Given the description of an element on the screen output the (x, y) to click on. 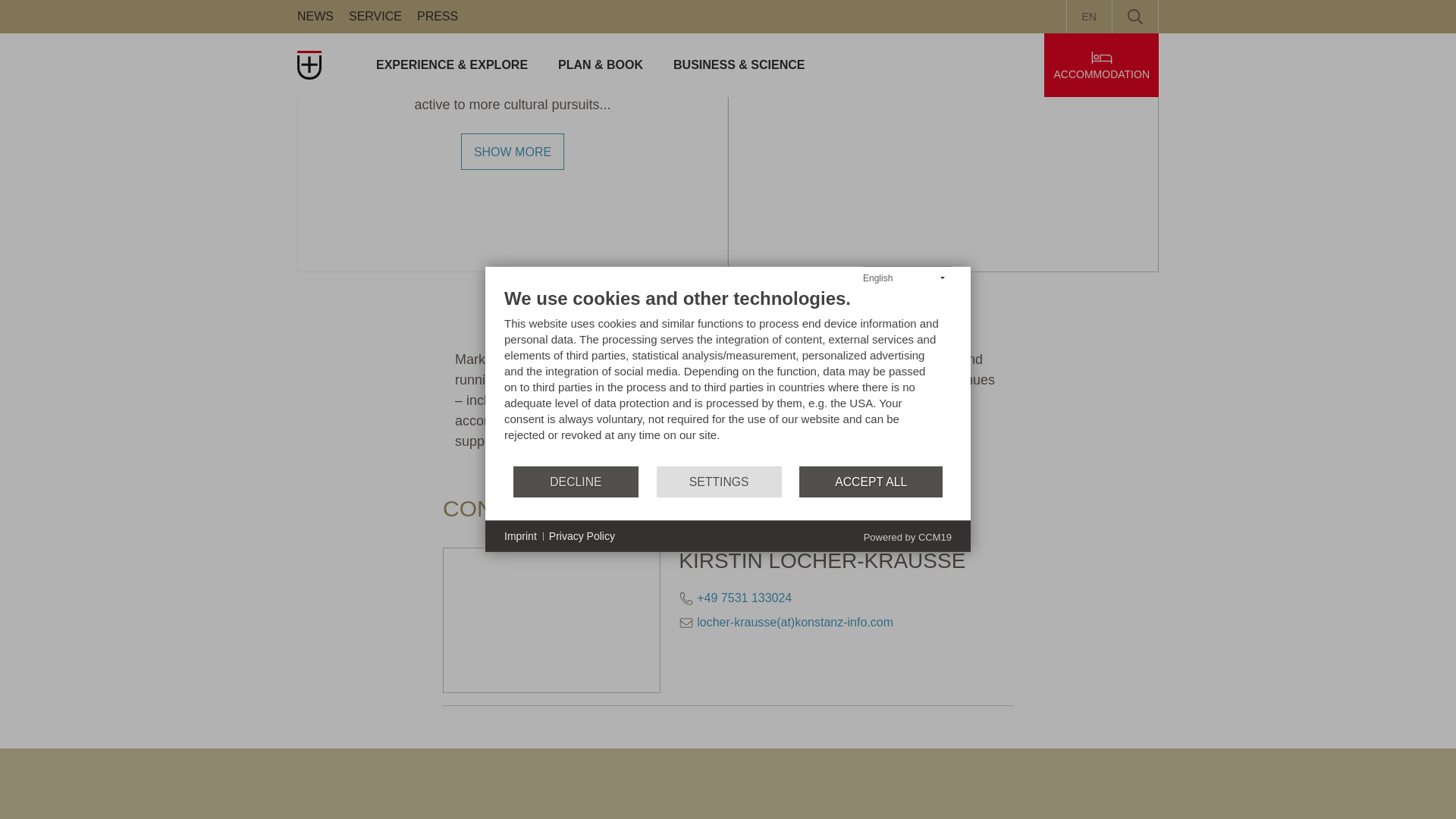
YouTube (436, 799)
Pinterest (351, 799)
Facebook (309, 799)
Instagram (393, 799)
